Given the description of an element on the screen output the (x, y) to click on. 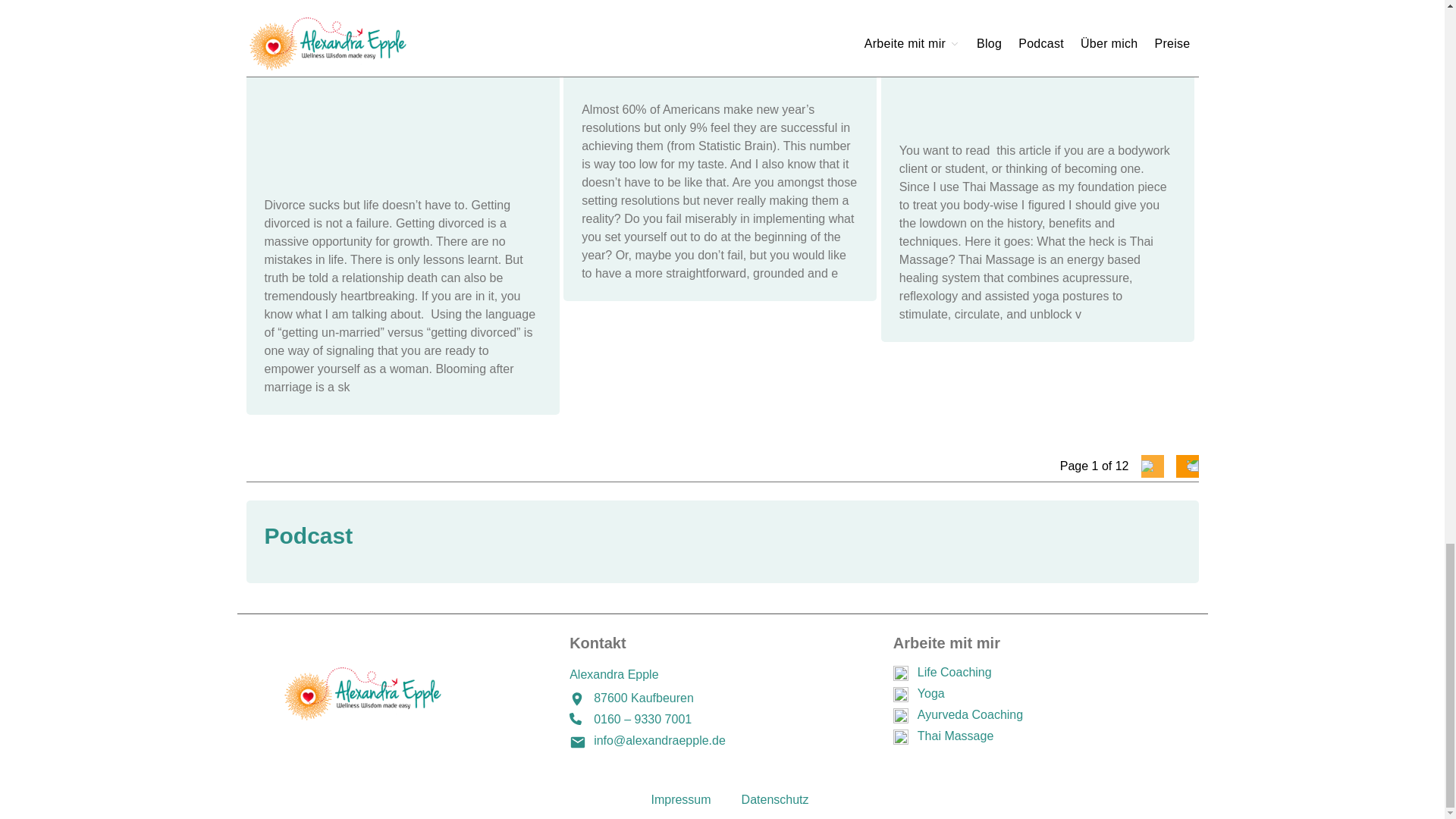
Ayurveda Coaching, Yoga Health Coaching, Thai Massage (394, 693)
